Given the description of an element on the screen output the (x, y) to click on. 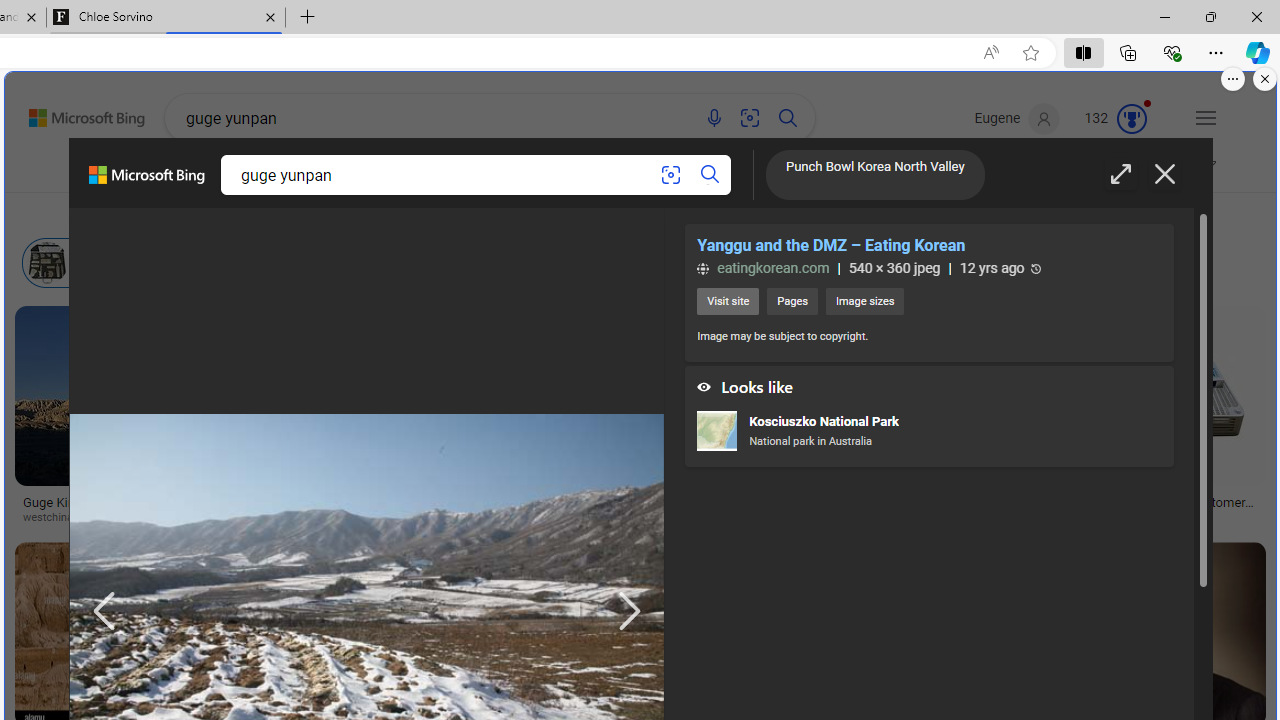
Color (306, 213)
Micrometer (602, 262)
COPILOT (305, 170)
Search button (709, 174)
westchinago.com (124, 517)
People (519, 213)
Moderate SafeSearch: (1105, 169)
MAPS (734, 173)
License (663, 213)
InspirationCollections (530, 173)
